Given the description of an element on the screen output the (x, y) to click on. 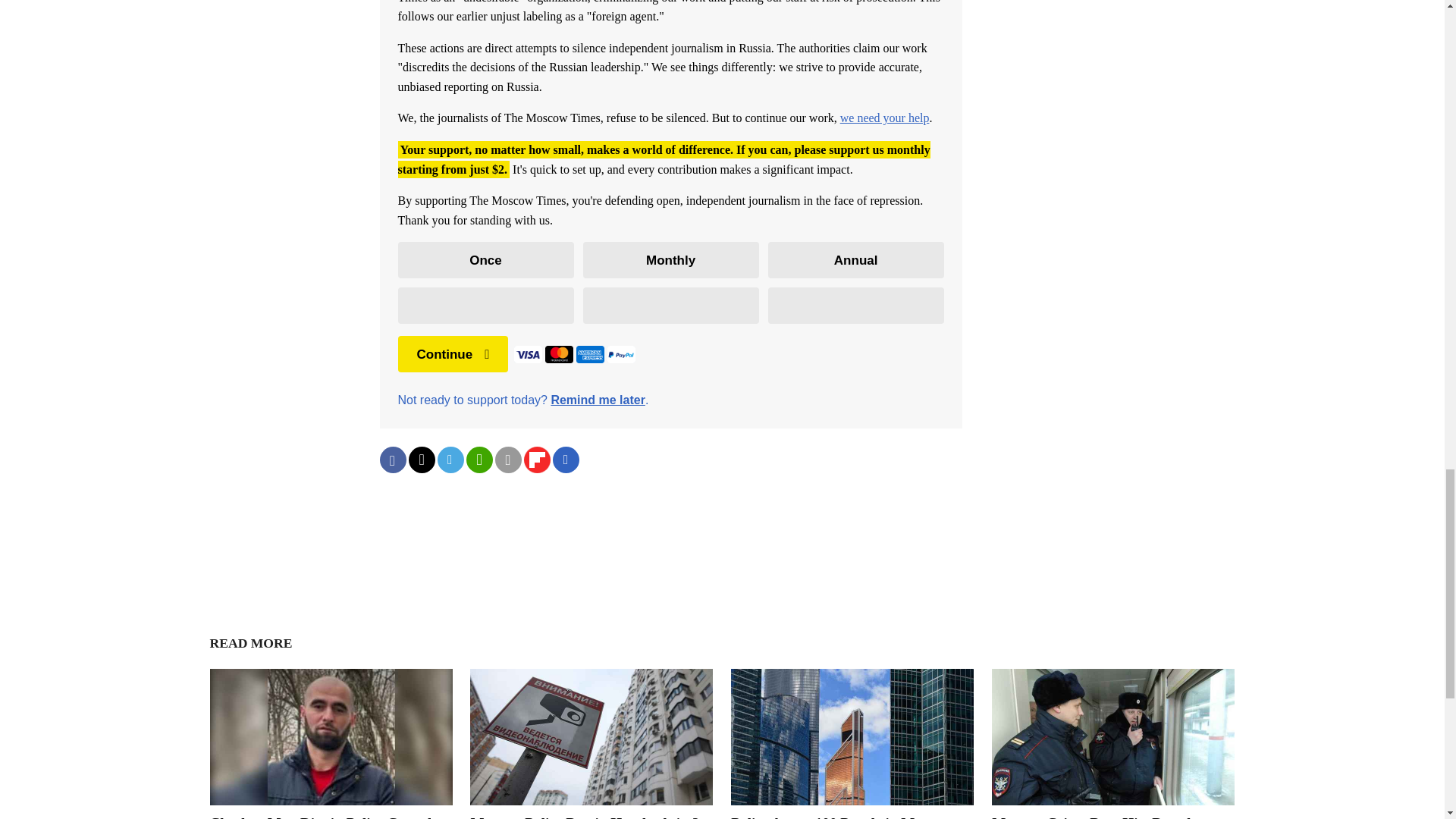
Share on Twitter (420, 459)
Share on Telegram (449, 459)
we need your help (885, 117)
Share on Facebook (392, 459)
